Given the description of an element on the screen output the (x, y) to click on. 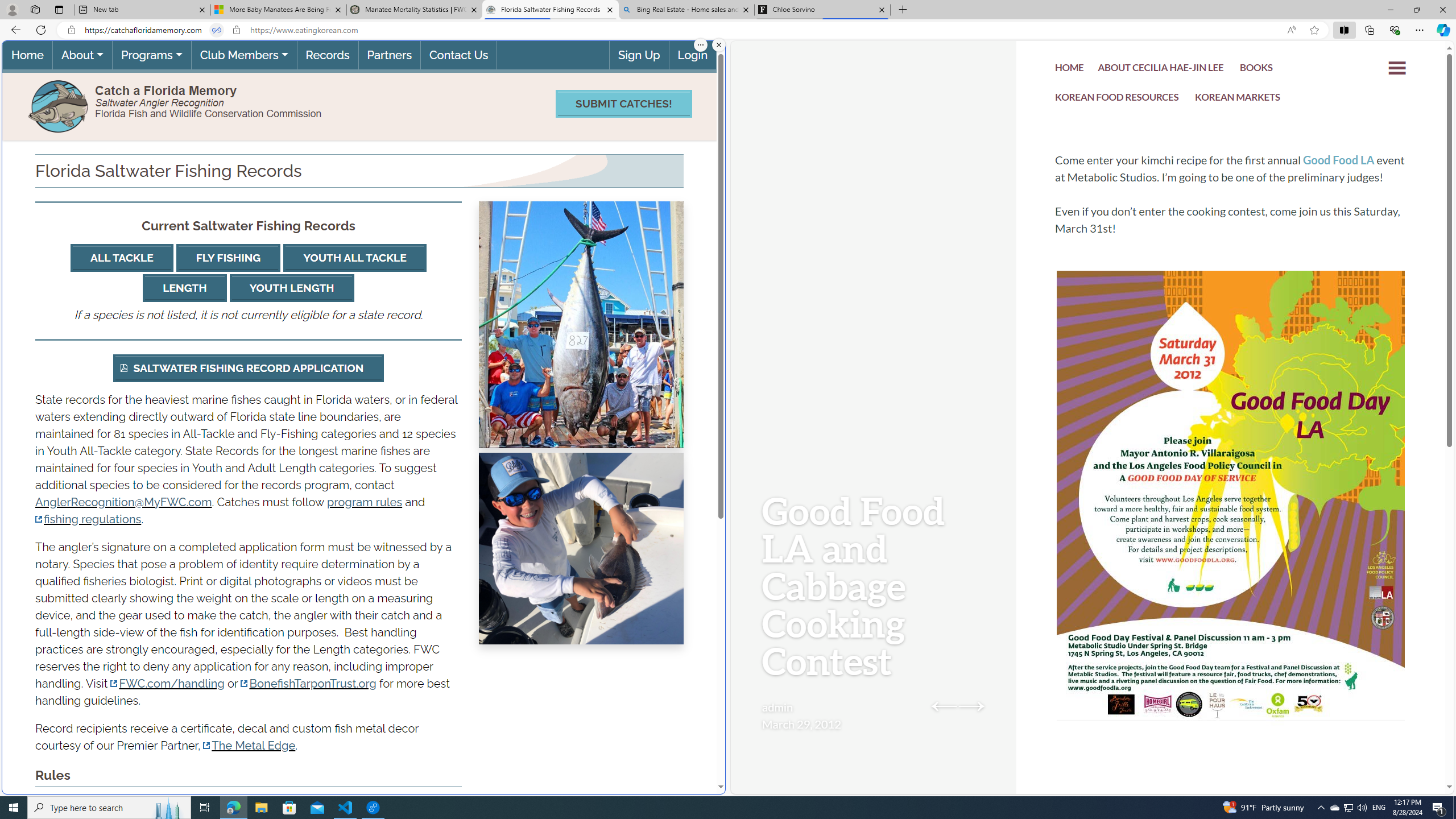
Tabs in split screen (216, 29)
SALTWATER FISHING RECORD APPLICATION (248, 367)
AnglerRecognition@MyFWC.com (123, 501)
fishing regulations (87, 518)
program rules (364, 501)
Measuring on boat (581, 548)
KOREAN FOOD RESOURCES (1117, 98)
Partners (389, 54)
YOUTH ALL TACKLE (354, 258)
YOUTH LENGTH (290, 288)
Close split screen. (719, 45)
Home (current) (27, 54)
FLY FISHING (228, 258)
